Given the description of an element on the screen output the (x, y) to click on. 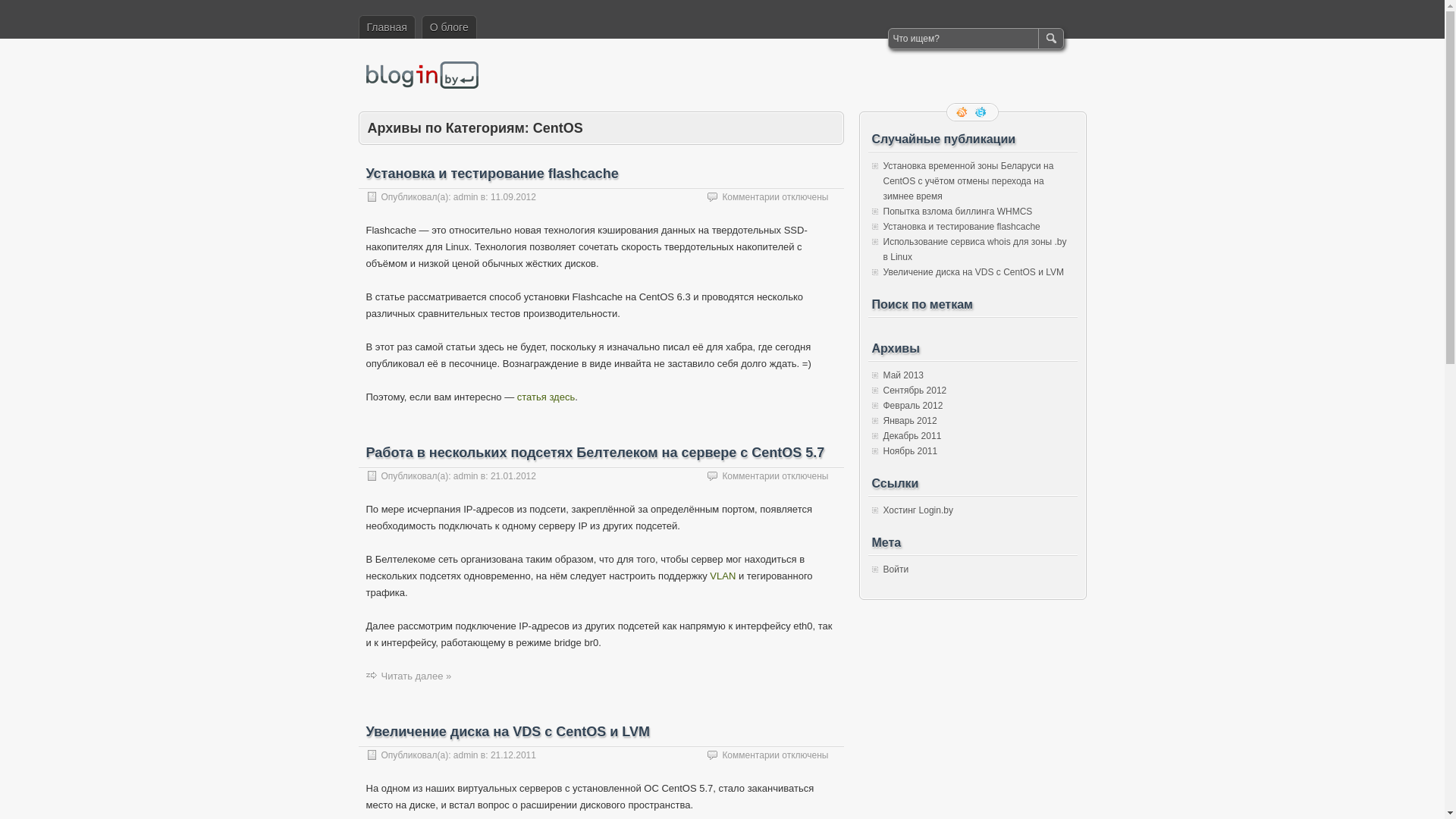
blogin.by Element type: text (607, 74)
VLAN Element type: text (722, 575)
21.01.2012 Element type: text (513, 475)
admin Element type: text (465, 475)
11.09.2012 Element type: text (513, 196)
RSS Element type: text (962, 111)
admin Element type: text (465, 196)
admin Element type: text (465, 754)
21.12.2011 Element type: text (513, 754)
